Given the description of an element on the screen output the (x, y) to click on. 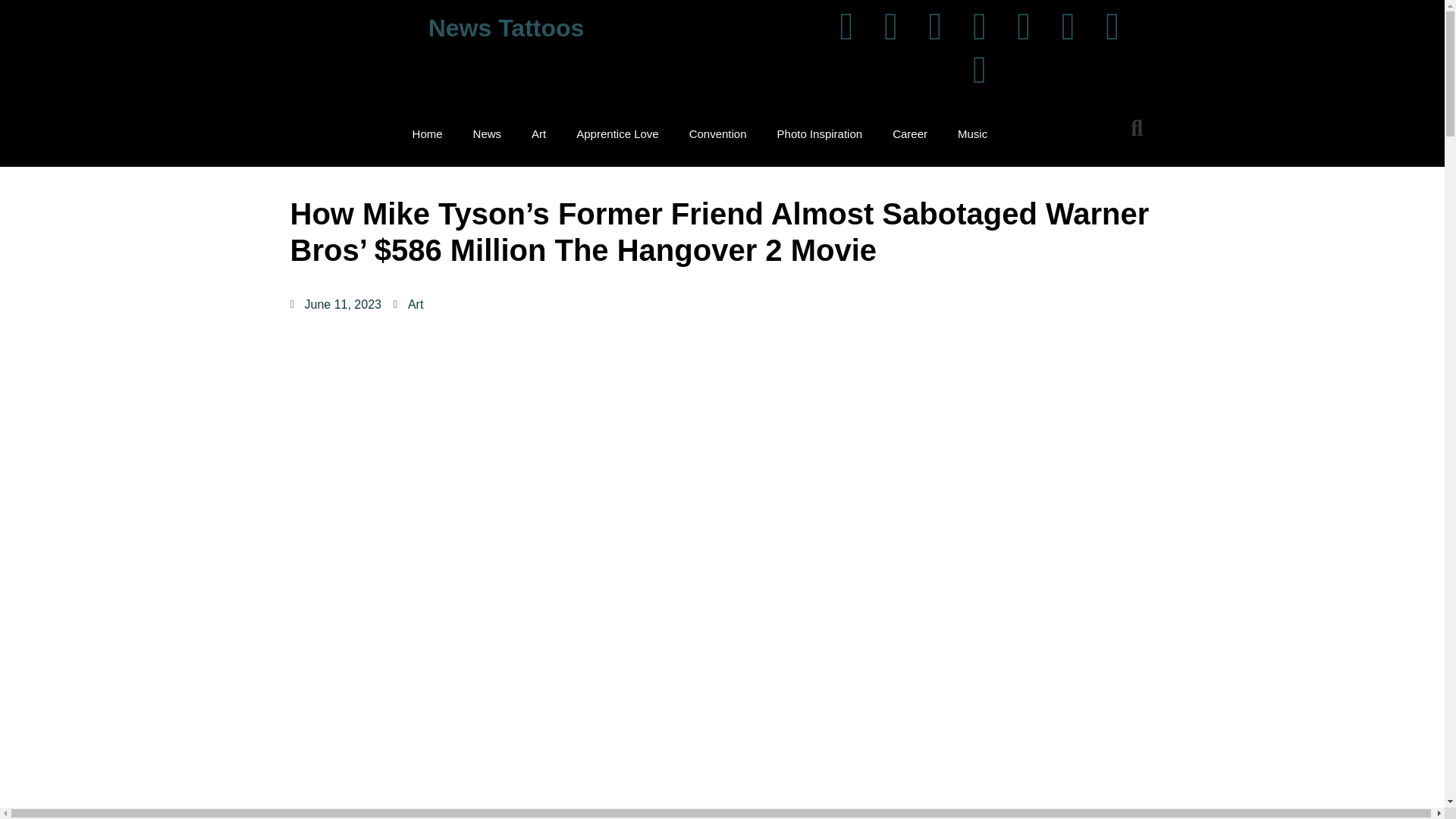
News Tattoos (506, 27)
Career (909, 134)
Art (415, 304)
Art (538, 134)
Music (972, 134)
June 11, 2023 (334, 304)
Photo Inspiration (819, 134)
Home (427, 134)
Convention (717, 134)
News (487, 134)
